Given the description of an element on the screen output the (x, y) to click on. 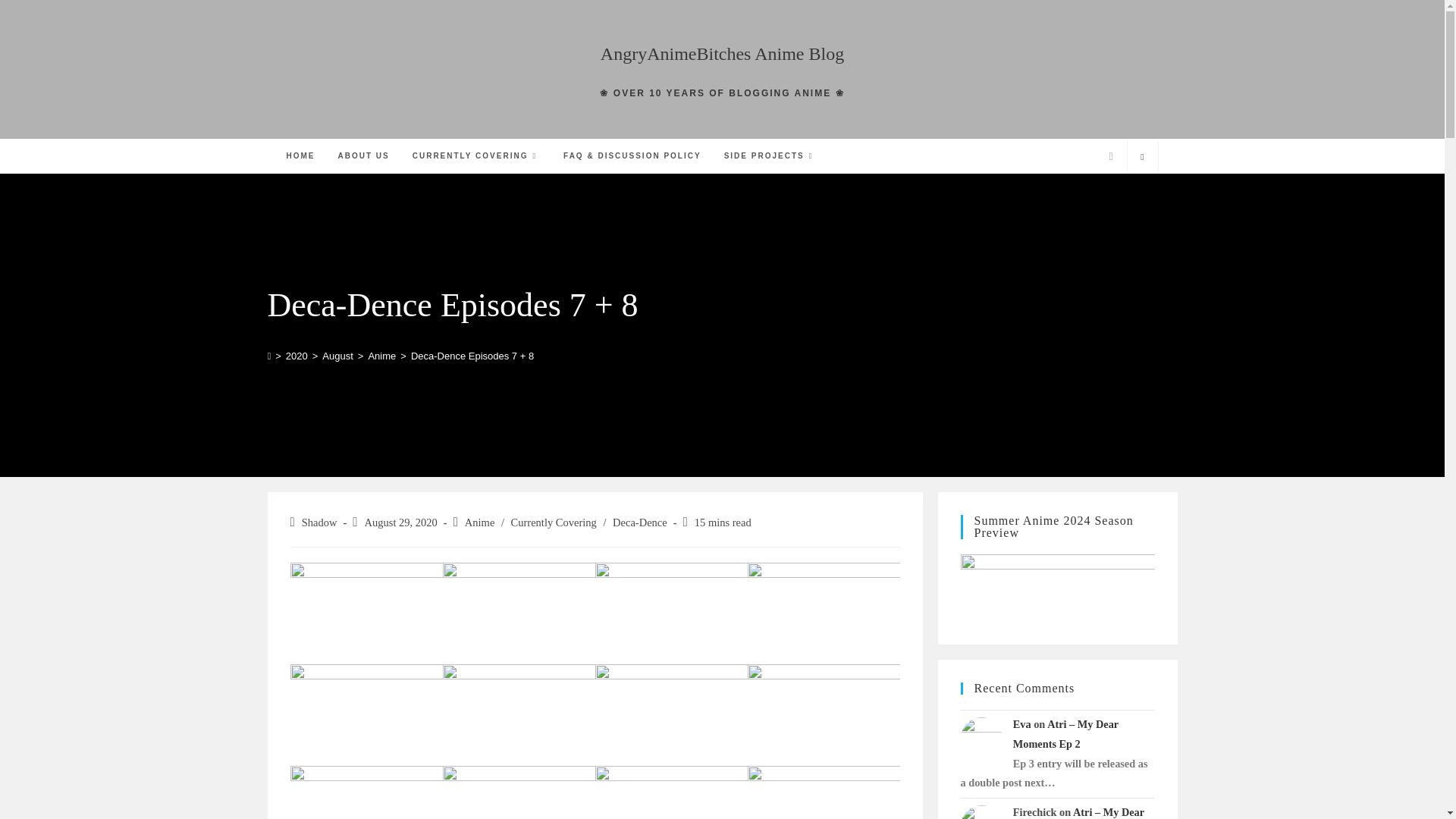
HOME (300, 155)
AngryAnimeBitches Anime Blog (721, 53)
CURRENTLY COVERING (476, 155)
ABOUT US (363, 155)
Anime (382, 355)
Posts by Shadow (319, 522)
SIDE PROJECTS (770, 155)
2020 (296, 355)
August (336, 355)
